Given the description of an element on the screen output the (x, y) to click on. 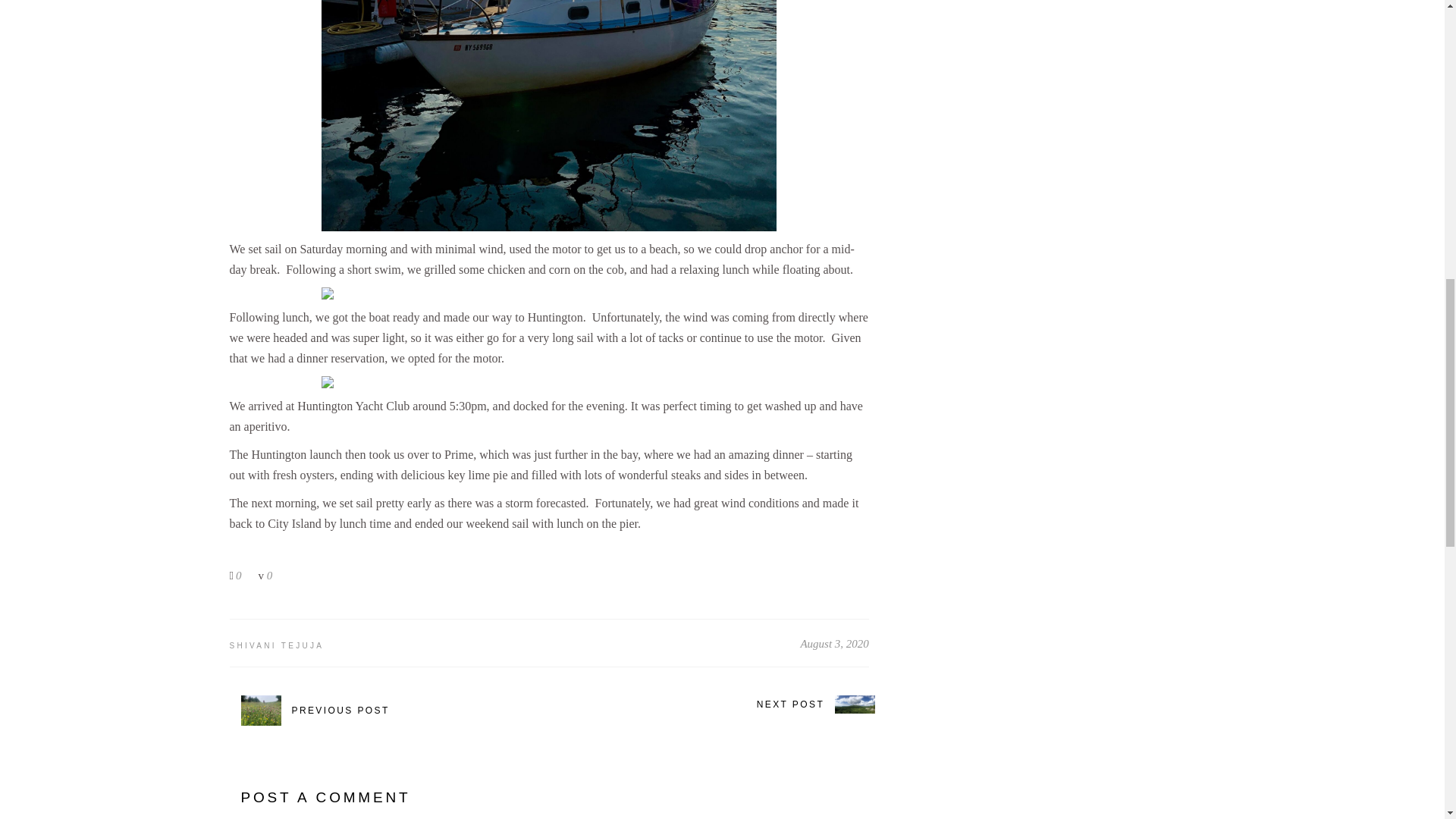
Like this (234, 575)
